Given the description of an element on the screen output the (x, y) to click on. 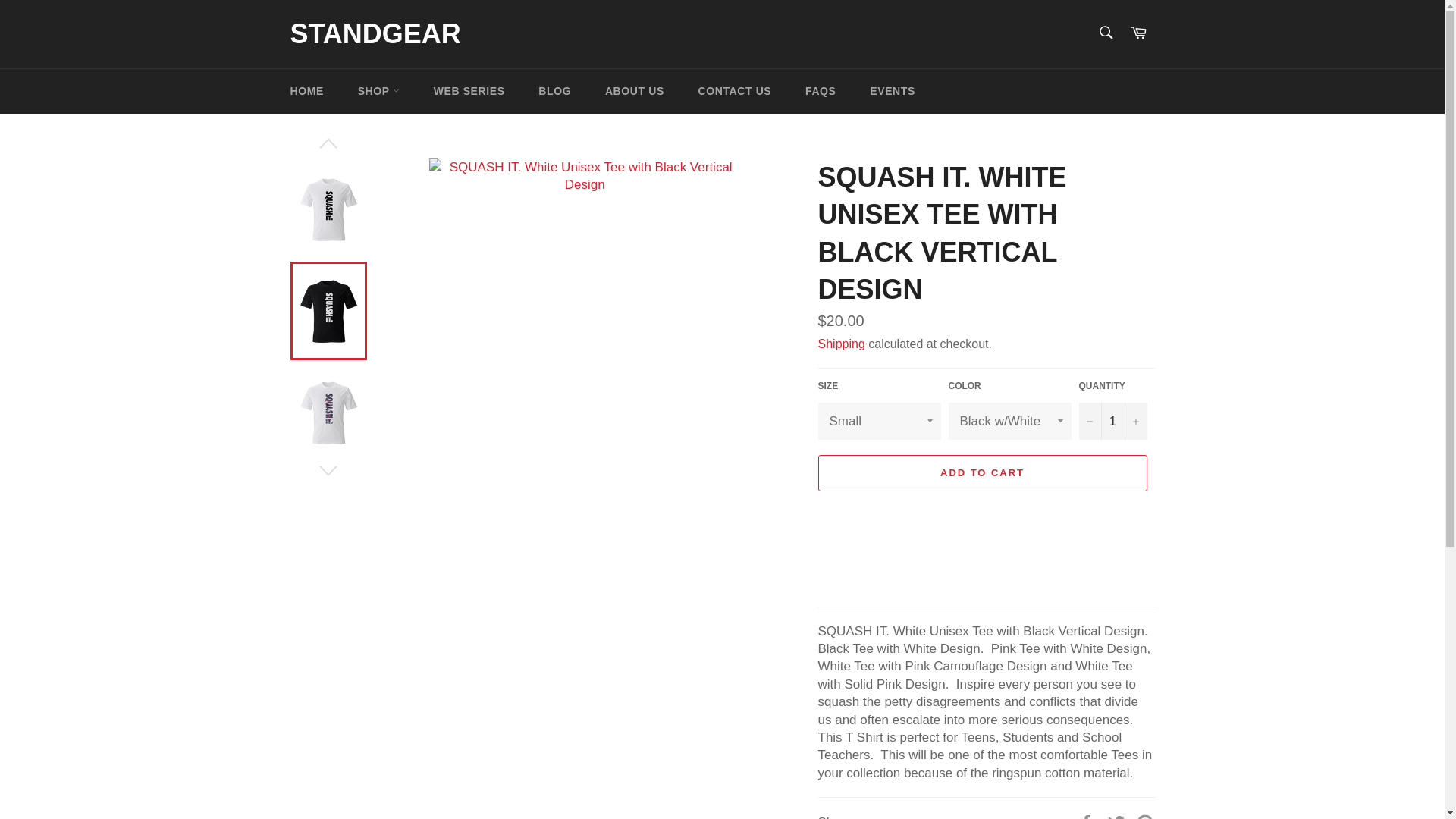
SHOP (378, 90)
Tweet on Twitter (1117, 816)
1 (1112, 420)
ABOUT US (634, 90)
Search (1104, 32)
Cart (1138, 33)
Share on Facebook (1088, 816)
BLOG (554, 90)
Pin on Pinterest (1144, 816)
HOME (306, 90)
FAQS (820, 90)
EVENTS (892, 90)
CONTACT US (734, 90)
WEB SERIES (469, 90)
STANDGEAR (374, 34)
